Given the description of an element on the screen output the (x, y) to click on. 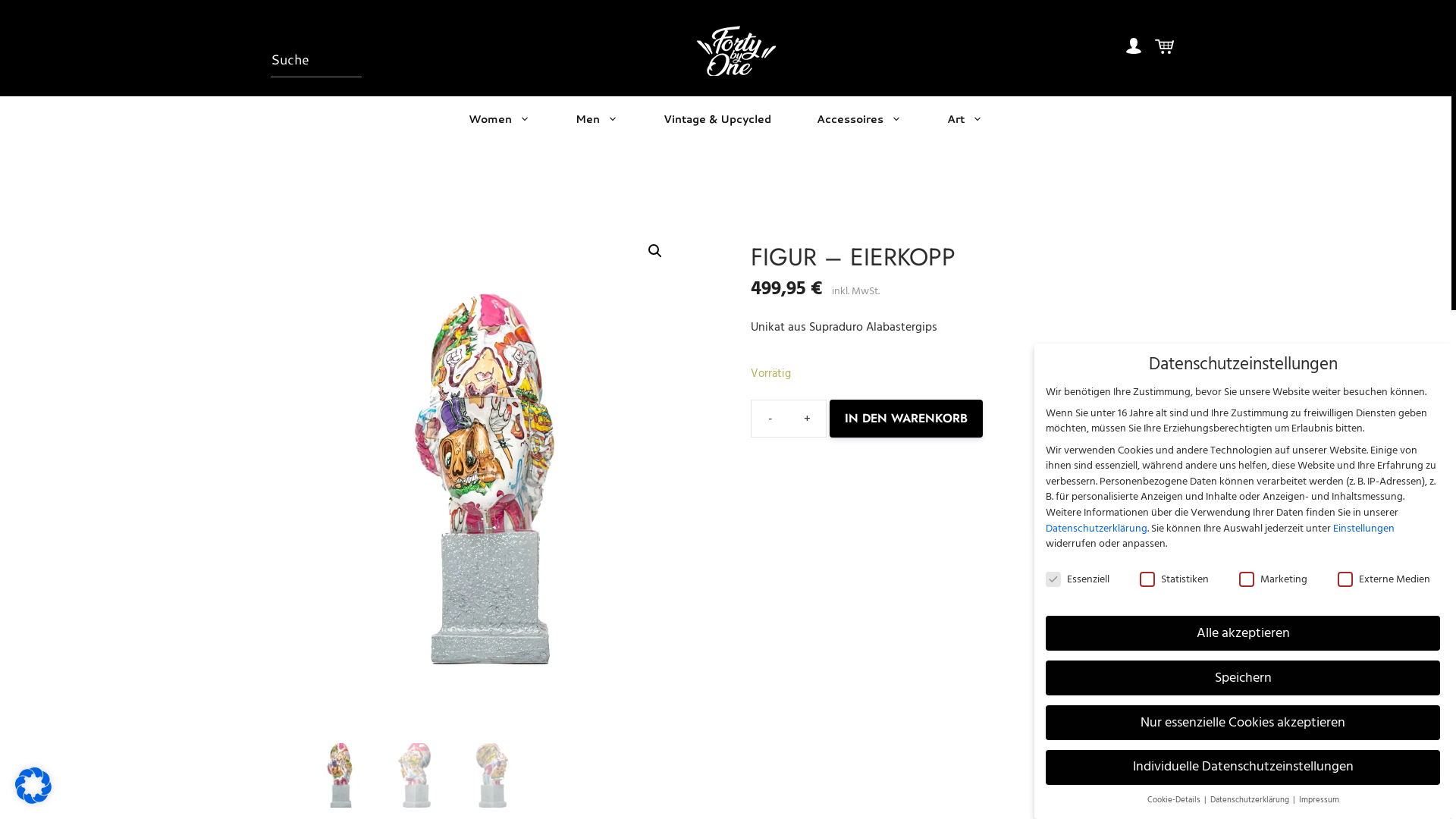
Athena2_Eierkopp Element type: hover (490, 479)
Individuelle Datenschutzeinstellungen Element type: text (1242, 766)
40by1 | Essential Streetwear Element type: hover (736, 50)
IN DEN WARENKORB Element type: text (905, 418)
Cookie-Details Element type: text (1173, 799)
Art Element type: text (964, 118)
Men Element type: text (596, 118)
Accessoires Element type: text (858, 118)
Nur essenzielle Cookies akzeptieren Element type: text (1242, 722)
Vintage & Upcycled Element type: text (716, 118)
Einstellungen Element type: text (1363, 527)
Warenkorb ansehen Element type: hover (1164, 50)
Speichern Element type: text (1242, 677)
Women Element type: text (498, 118)
Alle akzeptieren Element type: text (1242, 632)
Impressum Element type: text (1318, 799)
40by1 | Essential Streetwear Element type: hover (736, 49)
